Given the description of an element on the screen output the (x, y) to click on. 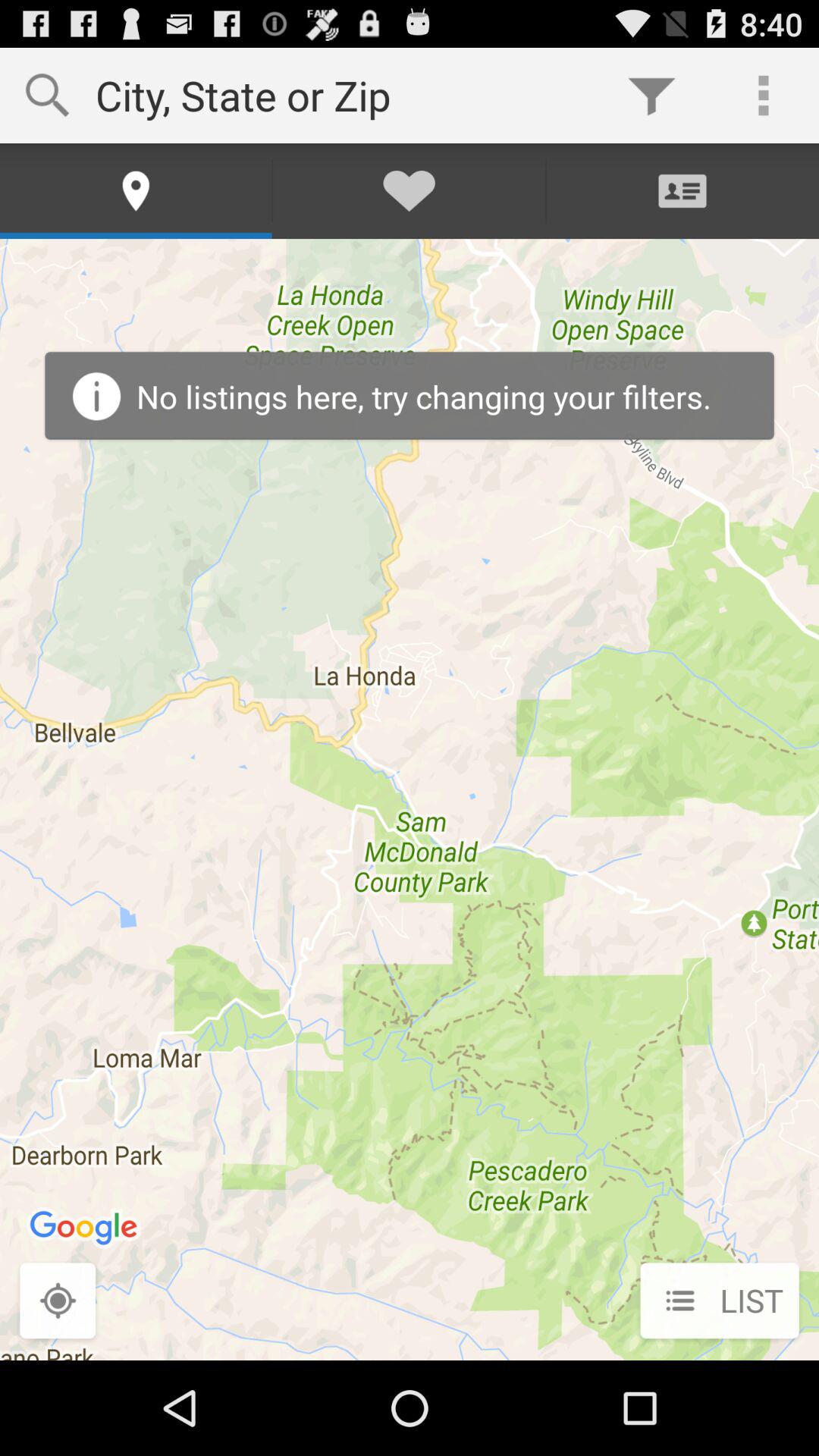
turn off icon at the center (409, 799)
